Given the description of an element on the screen output the (x, y) to click on. 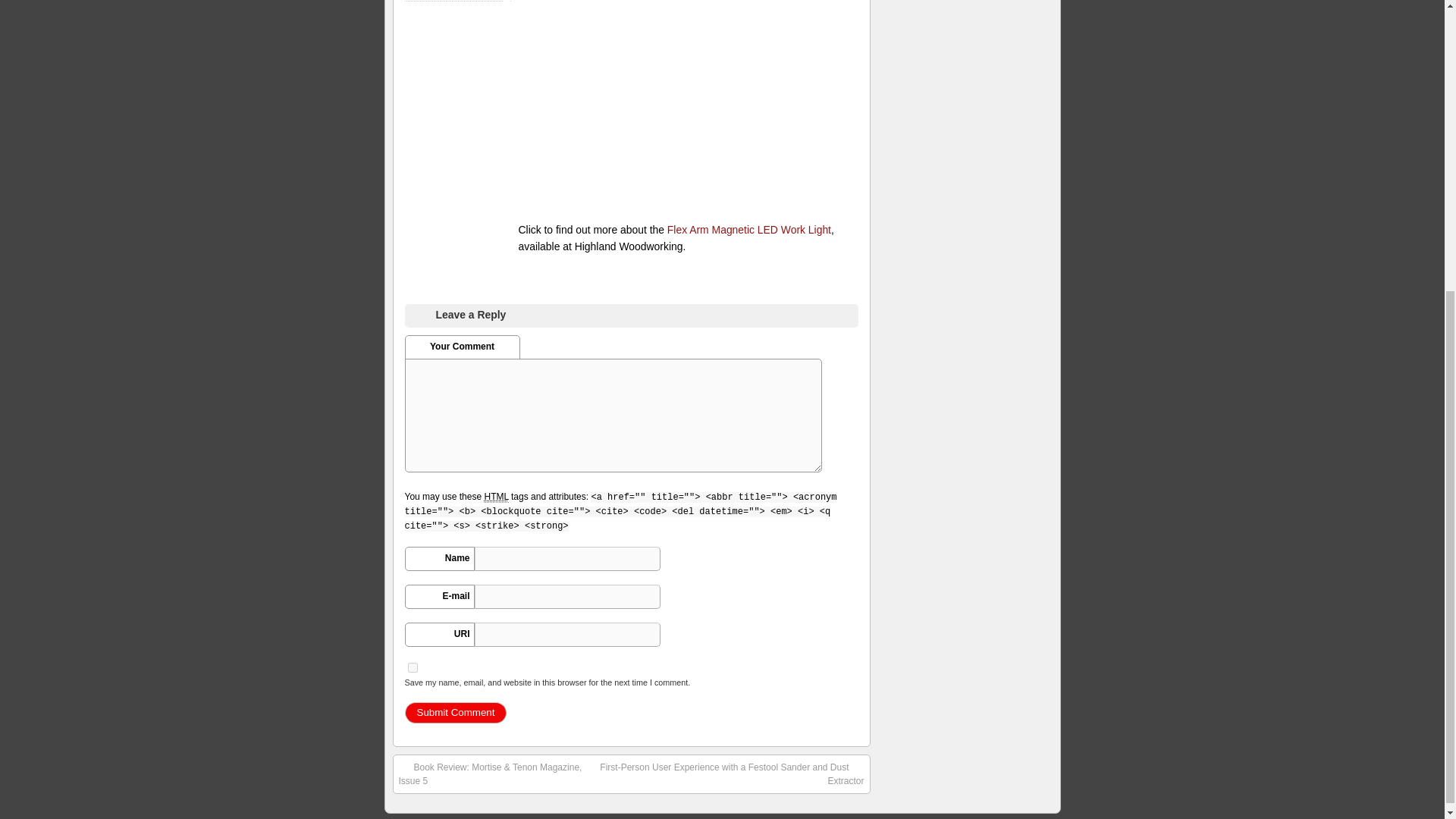
Flex Arm Magnetic LED Work Light (748, 229)
Submit Comment (455, 712)
HyperText Markup Language (495, 496)
yes (412, 667)
Submit Comment (455, 712)
